Given the description of an element on the screen output the (x, y) to click on. 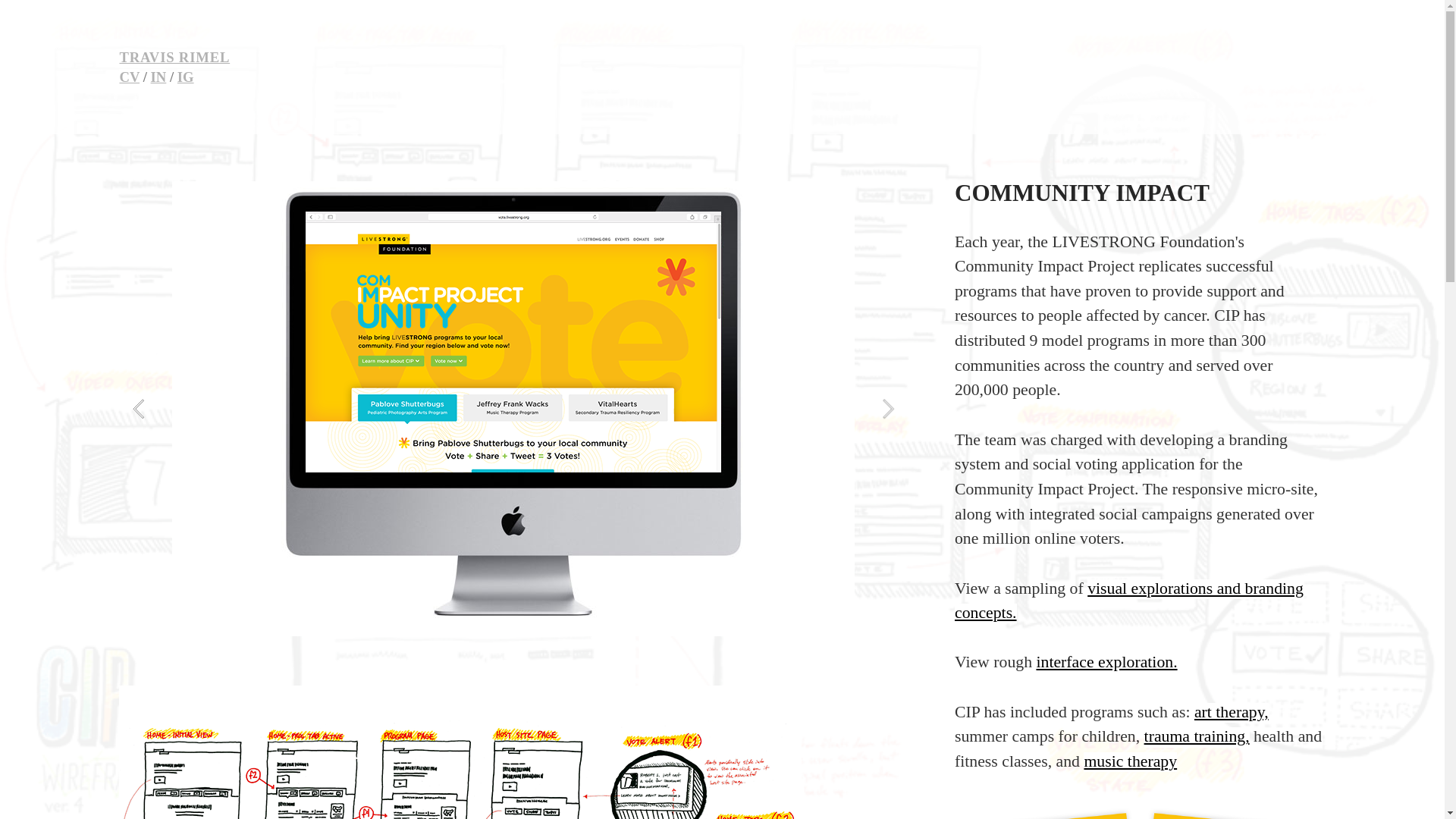
interface exploration. (1105, 662)
art therapy, (1230, 712)
TRAVIS RIMEL (174, 57)
visual explorations and branding concepts. (1129, 601)
music therapy (1129, 762)
trauma training, (1196, 736)
IG (185, 77)
IN (159, 77)
CV (129, 77)
